Given the description of an element on the screen output the (x, y) to click on. 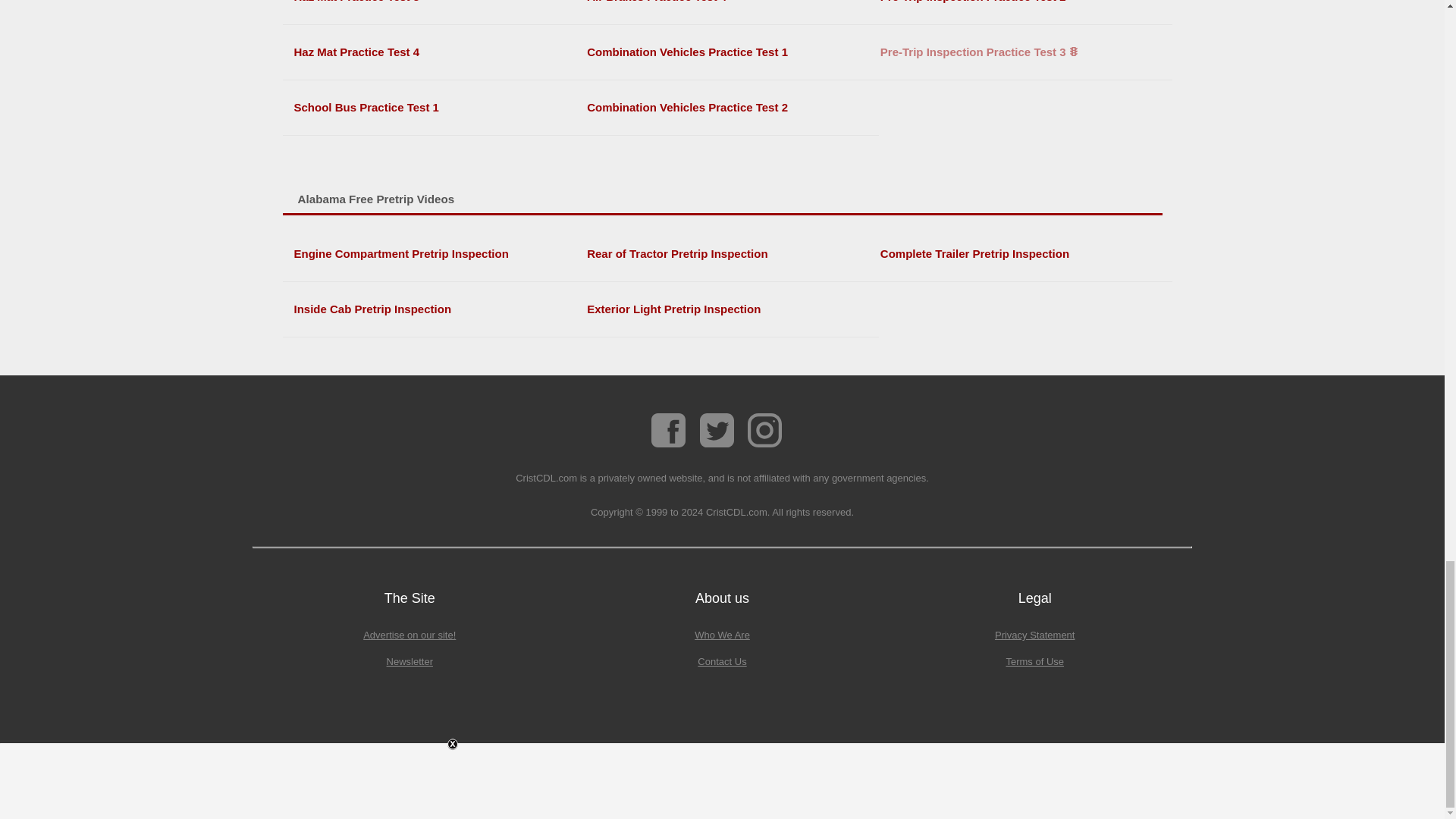
Free AL School Bus CDL Practice Test 1 (433, 107)
Haz Mat Practice Test 3 (433, 6)
Combination Vehicles Practice Test 1 (727, 51)
Free AL Haz Mat CDL Practice Test 4 (433, 51)
Free AL Haz Mat CDL Practice Test 3 (433, 6)
Air Brakes Practice Test 4 (727, 6)
School Bus Practice Test 1 (433, 107)
Combination Vehicles Practice Test 2 (727, 107)
Haz Mat Practice Test 4 (433, 51)
